Given the description of an element on the screen output the (x, y) to click on. 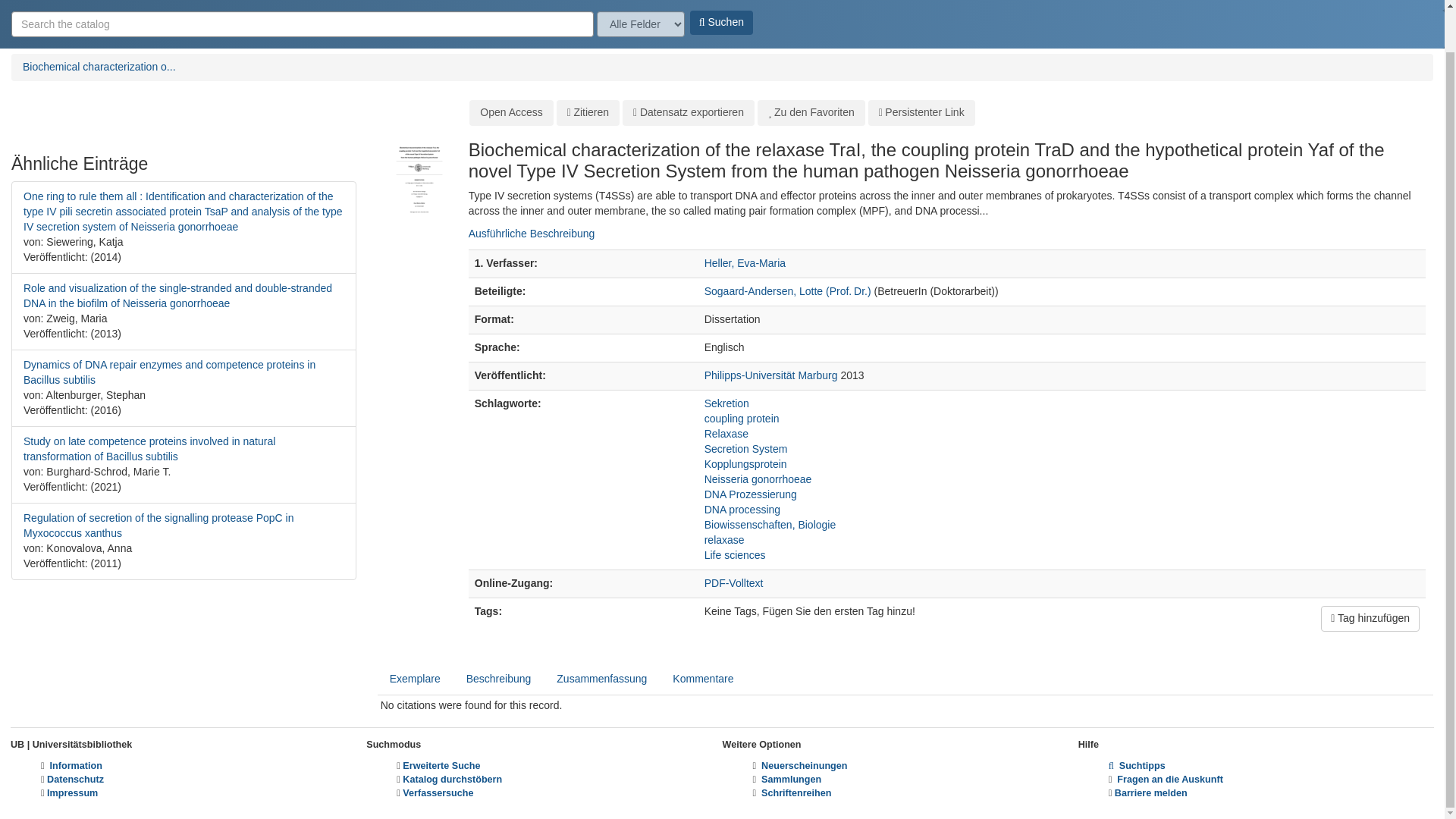
DNA processing (742, 509)
Neisseria gonorrhoeae (758, 479)
coupling protein (741, 418)
relaxase (724, 539)
DNA Prozessierung (750, 494)
Secretion System (745, 449)
Biowissenschaften, Biologie (769, 524)
Relaxase (726, 433)
Life sciences (734, 554)
Sekretion (726, 403)
Kopplungsprotein (745, 463)
